Given the description of an element on the screen output the (x, y) to click on. 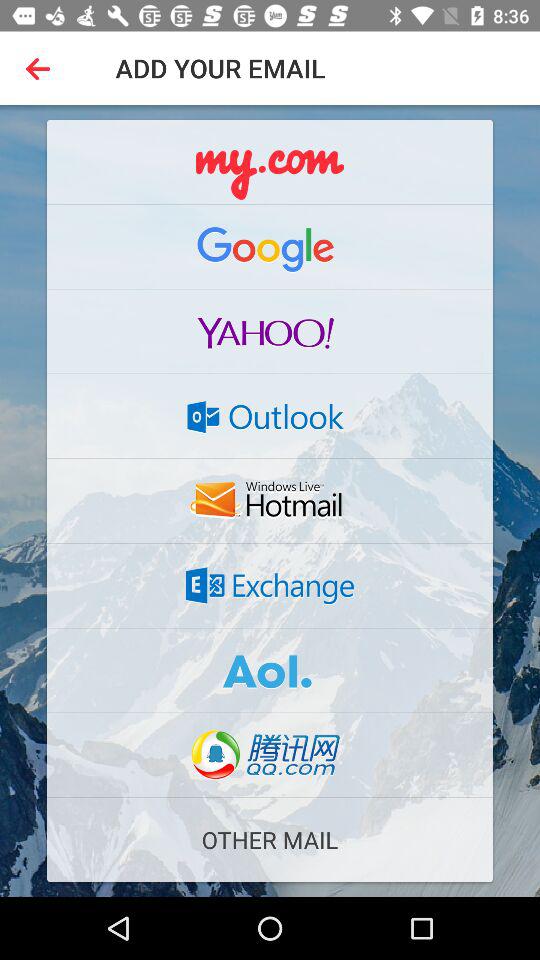
add email but its in different language (269, 755)
